Given the description of an element on the screen output the (x, y) to click on. 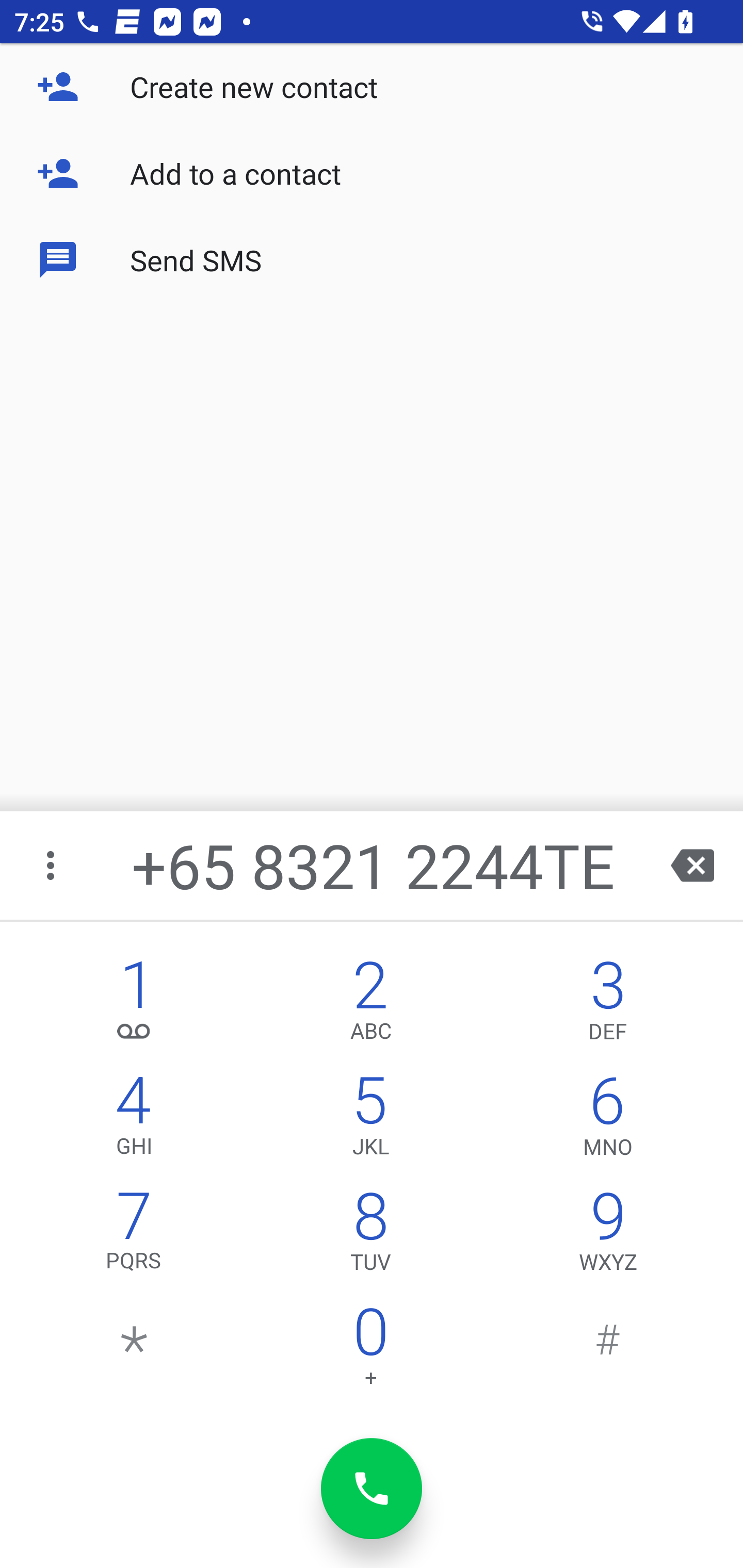
Create new contact (371, 86)
Add to a contact (371, 173)
Send SMS (371, 259)
+65 8321 2244TE (372, 865)
backspace (692, 865)
More options (52, 865)
1, 1 (133, 1005)
2,ABC 2 ABC (370, 1005)
3,DEF 3 DEF (607, 1005)
4,GHI 4 GHI (133, 1120)
5,JKL 5 JKL (370, 1120)
6,MNO 6 MNO (607, 1120)
7,PQRS 7 PQRS (133, 1235)
8,TUV 8 TUV (370, 1235)
9,WXYZ 9 WXYZ (607, 1235)
* (133, 1351)
0 0 + (370, 1351)
# (607, 1351)
dial (371, 1488)
